Given the description of an element on the screen output the (x, y) to click on. 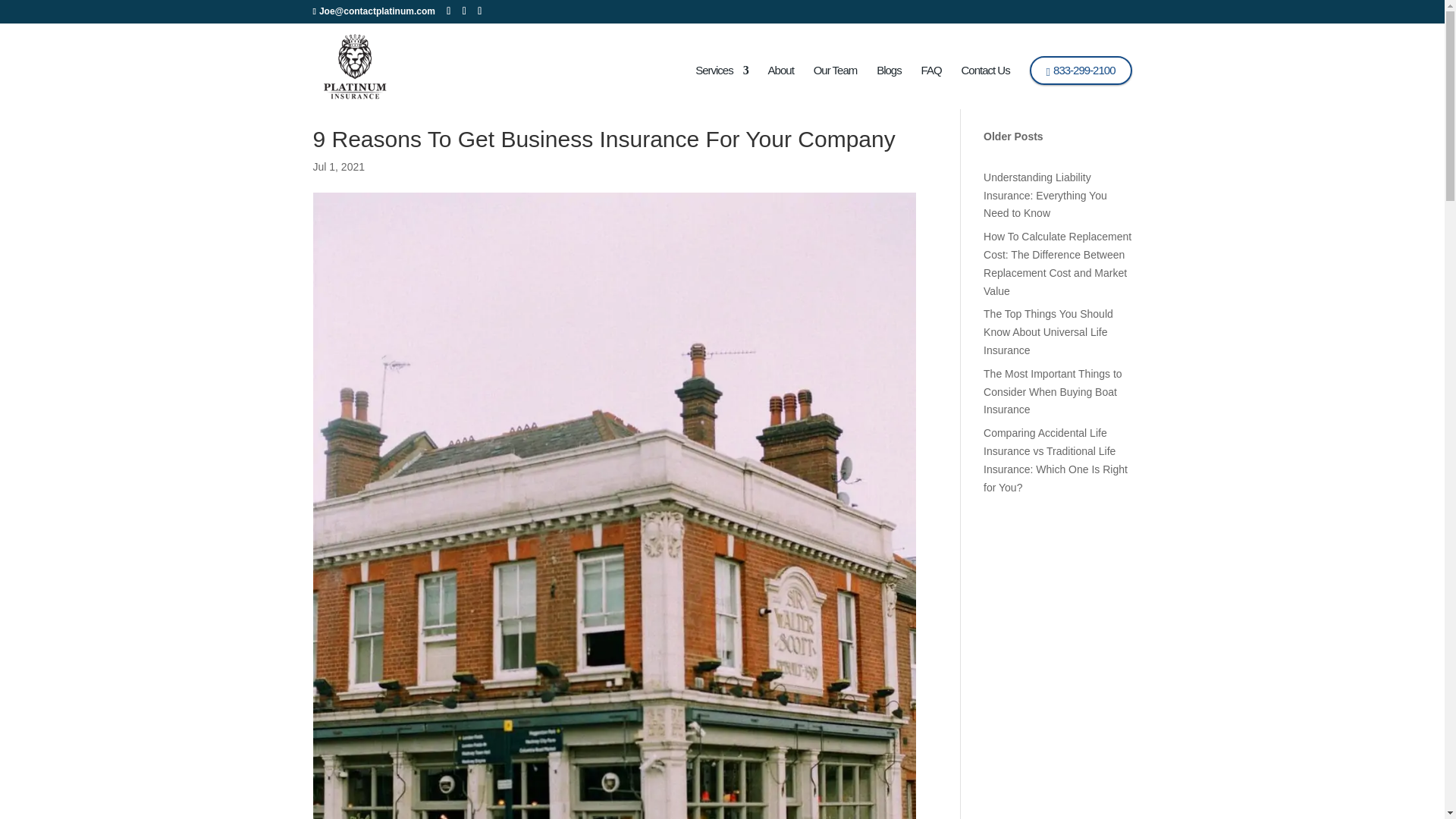
833-299-2100 (1080, 70)
Contact Us (985, 86)
Services (721, 86)
Our Team (835, 86)
